Given the description of an element on the screen output the (x, y) to click on. 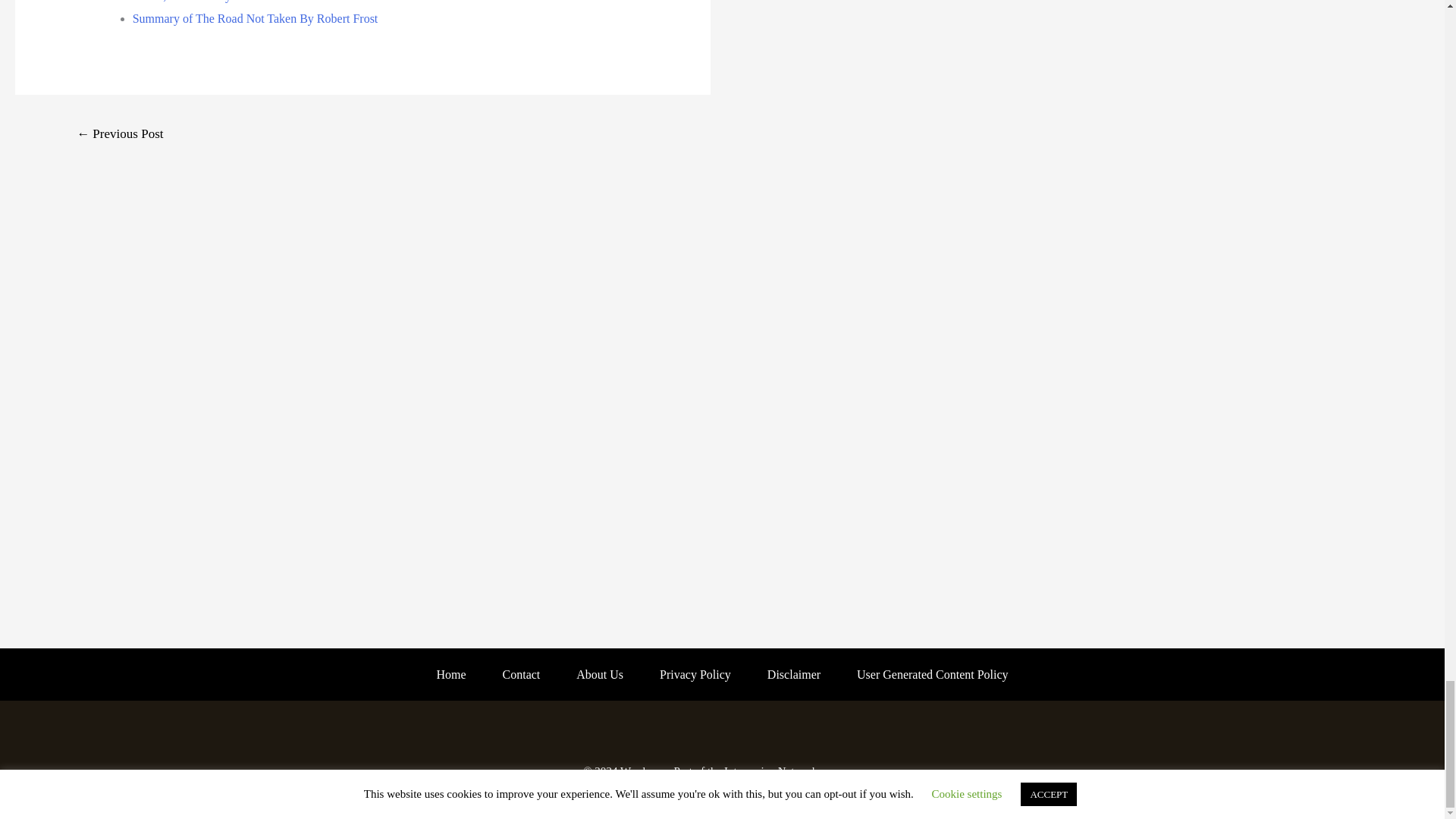
Summary of The Road Not Taken By Robert Frost (255, 18)
A Psalm of Life by HW Longfellow: Poetry Analysis (119, 135)
